Given the description of an element on the screen output the (x, y) to click on. 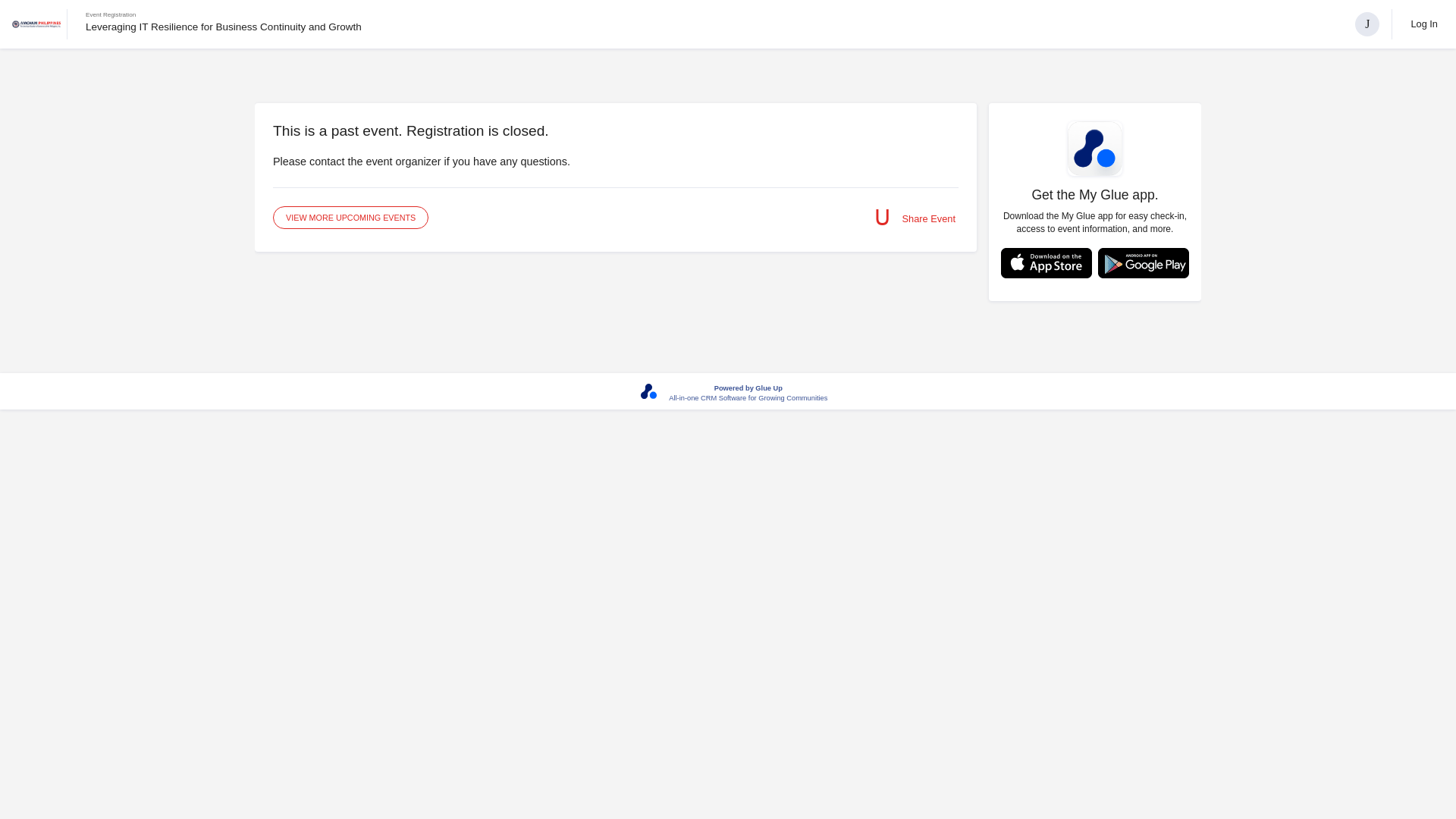
Leveraging IT Resilience for Business Continuity and Growth (223, 27)
VIEW MORE UPCOMING EVENTS (350, 217)
AmCham Philippines logo (35, 24)
